Given the description of an element on the screen output the (x, y) to click on. 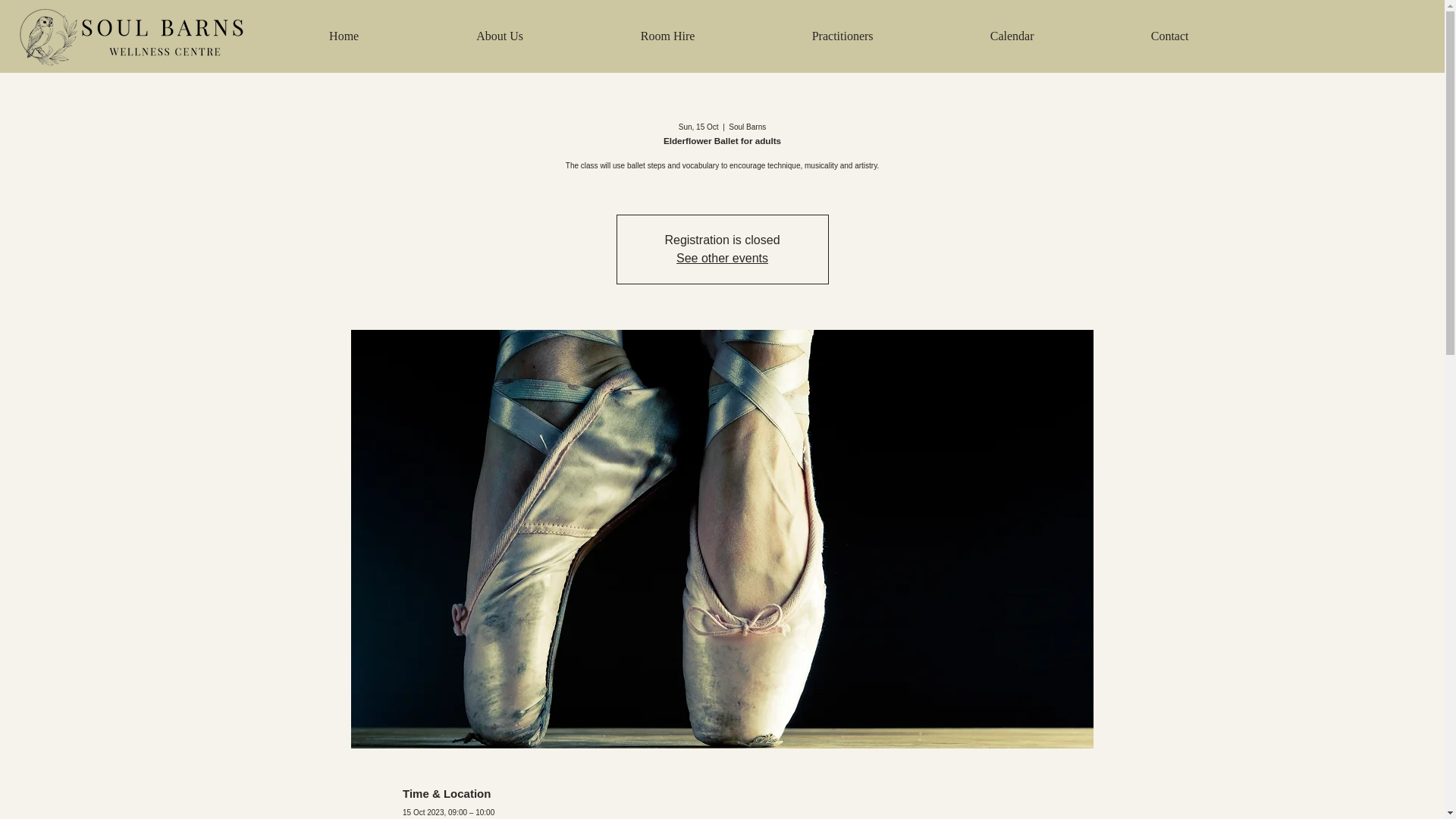
Practitioners (842, 35)
About Us (499, 35)
Home (343, 35)
Calendar (1012, 35)
Room Hire (668, 35)
Contact (1170, 35)
See other events (722, 257)
